Given the description of an element on the screen output the (x, y) to click on. 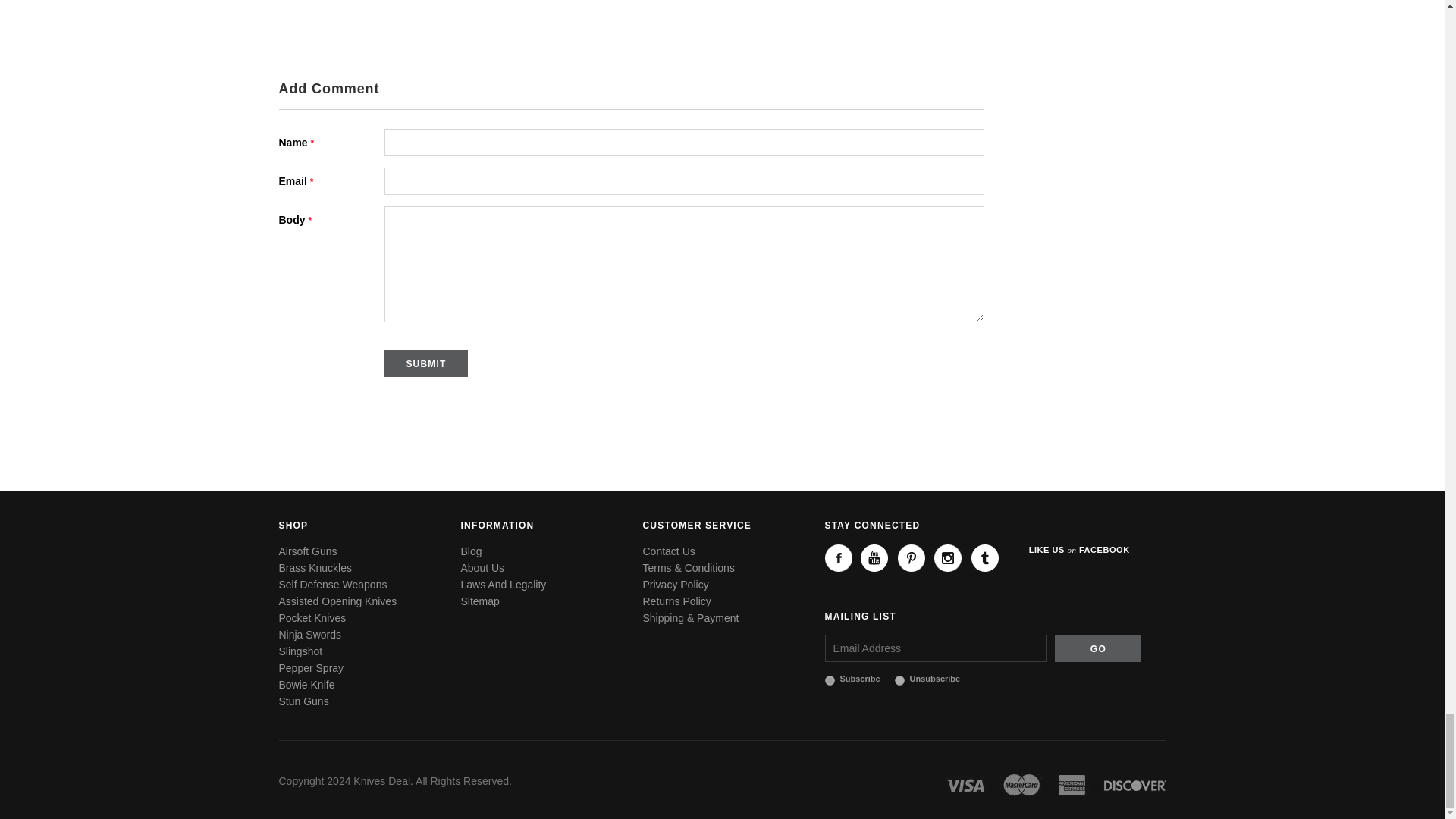
Follow Us on Tumblr (984, 557)
Like Us on Facebook (838, 557)
0 (899, 679)
GO (1097, 646)
Submit (425, 362)
Follow Us on Instagram (947, 557)
Follow Us on Pinterest (911, 557)
1 (829, 679)
Subscribe to Our Channel (874, 557)
